Given the description of an element on the screen output the (x, y) to click on. 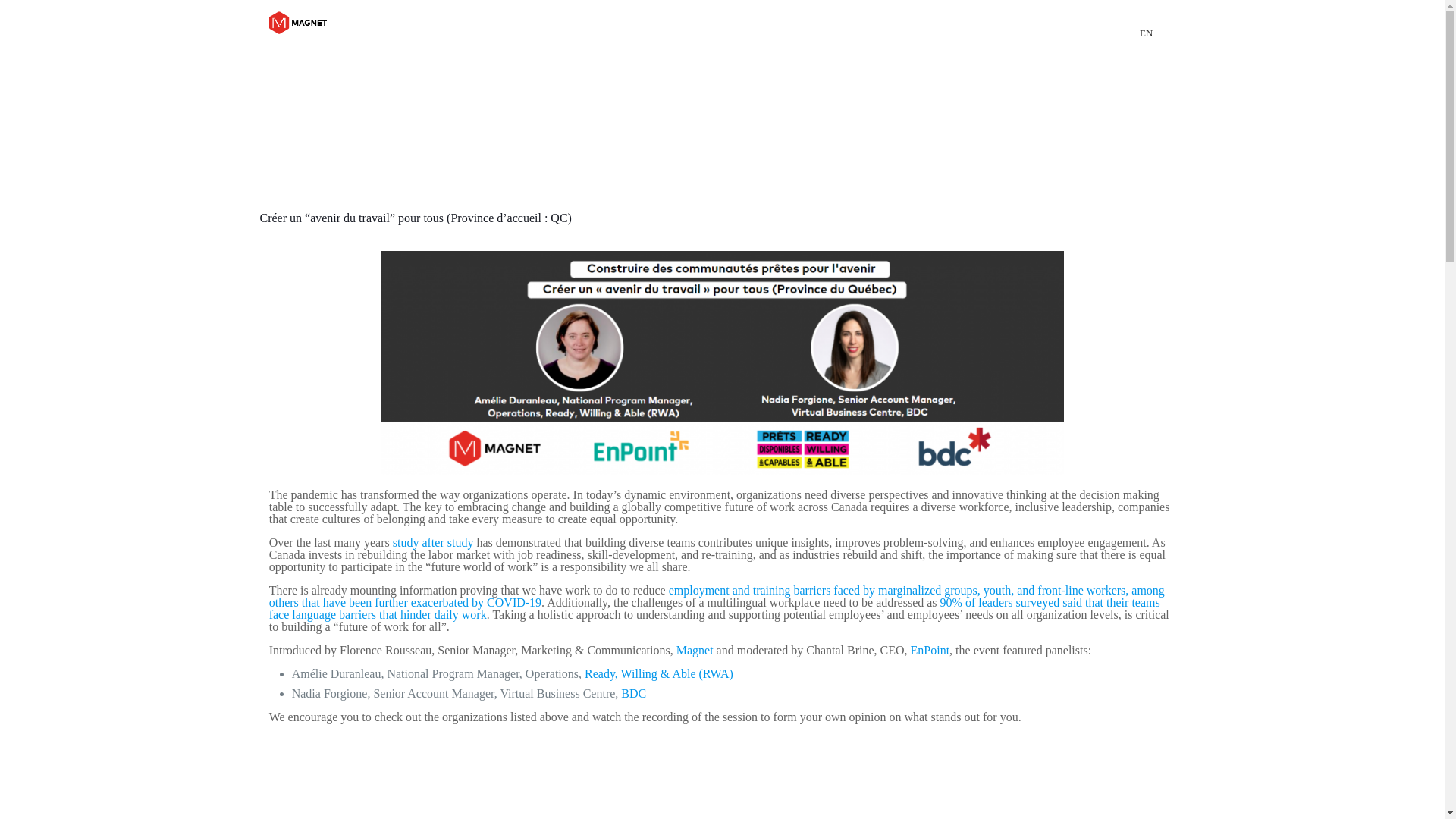
EN (1146, 32)
BDC (633, 693)
EnPoint (930, 649)
study after study (433, 542)
Magnet (695, 649)
Building Future Ready Communities (297, 22)
